Given the description of an element on the screen output the (x, y) to click on. 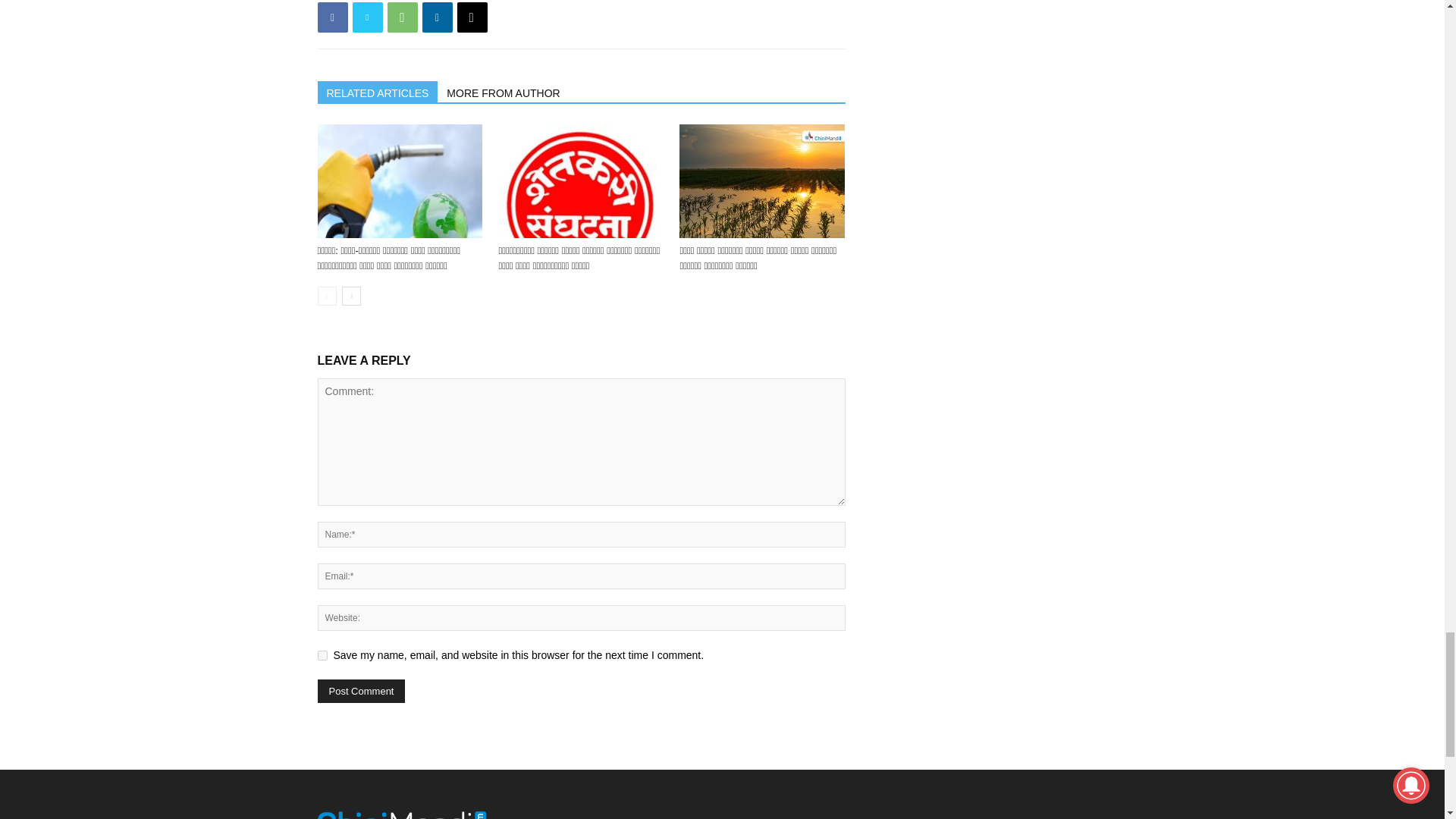
Post Comment (360, 690)
yes (321, 655)
